Given the description of an element on the screen output the (x, y) to click on. 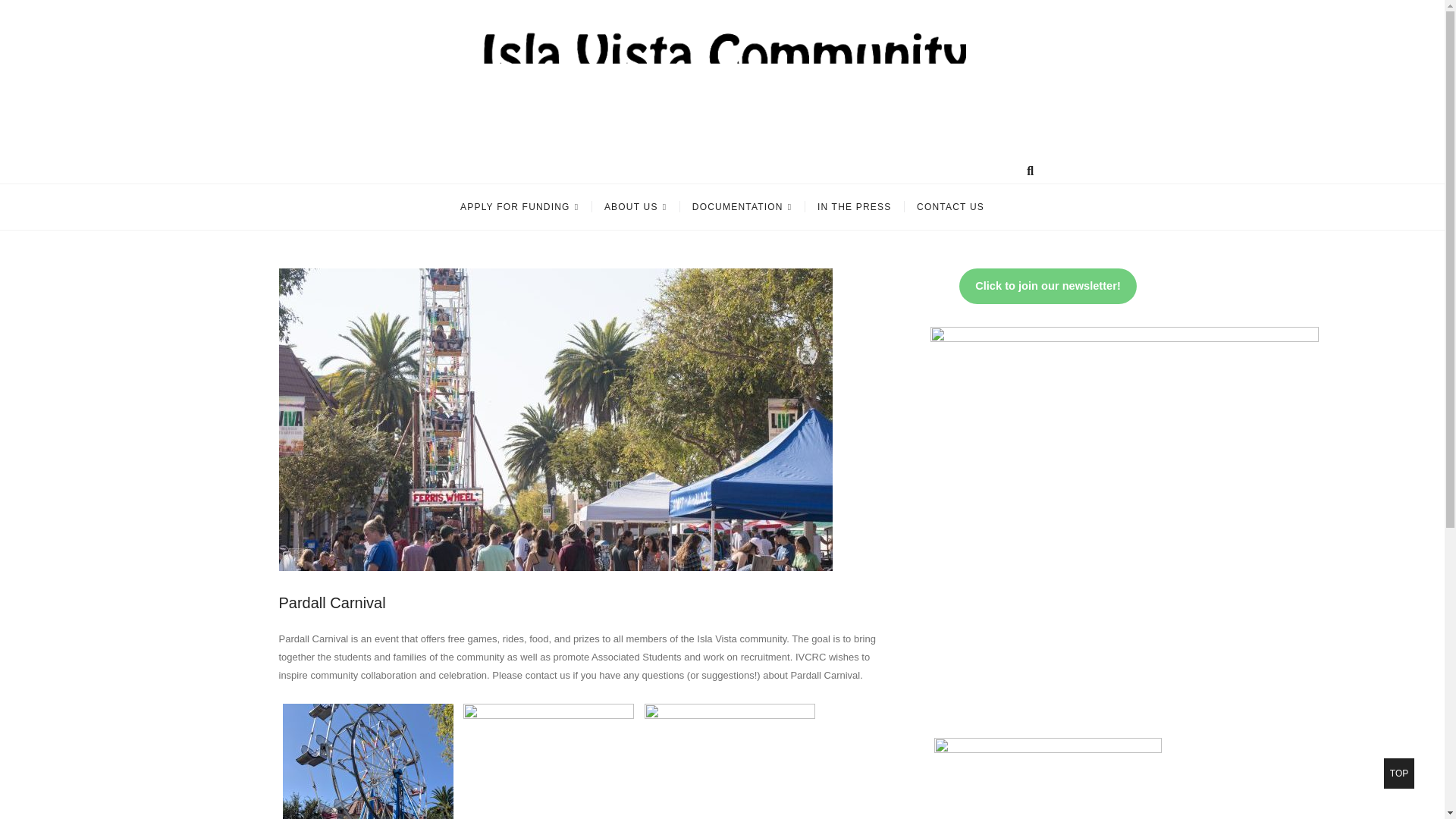
IN THE PRESS (854, 207)
DOCUMENTATION (742, 207)
APPLY FOR FUNDING (518, 207)
Pardall Carnival (332, 602)
Pardall Carnival (332, 602)
ABOUT US (635, 207)
CONTACT US (1398, 773)
Click to join our newsletter! (950, 207)
